Given the description of an element on the screen output the (x, y) to click on. 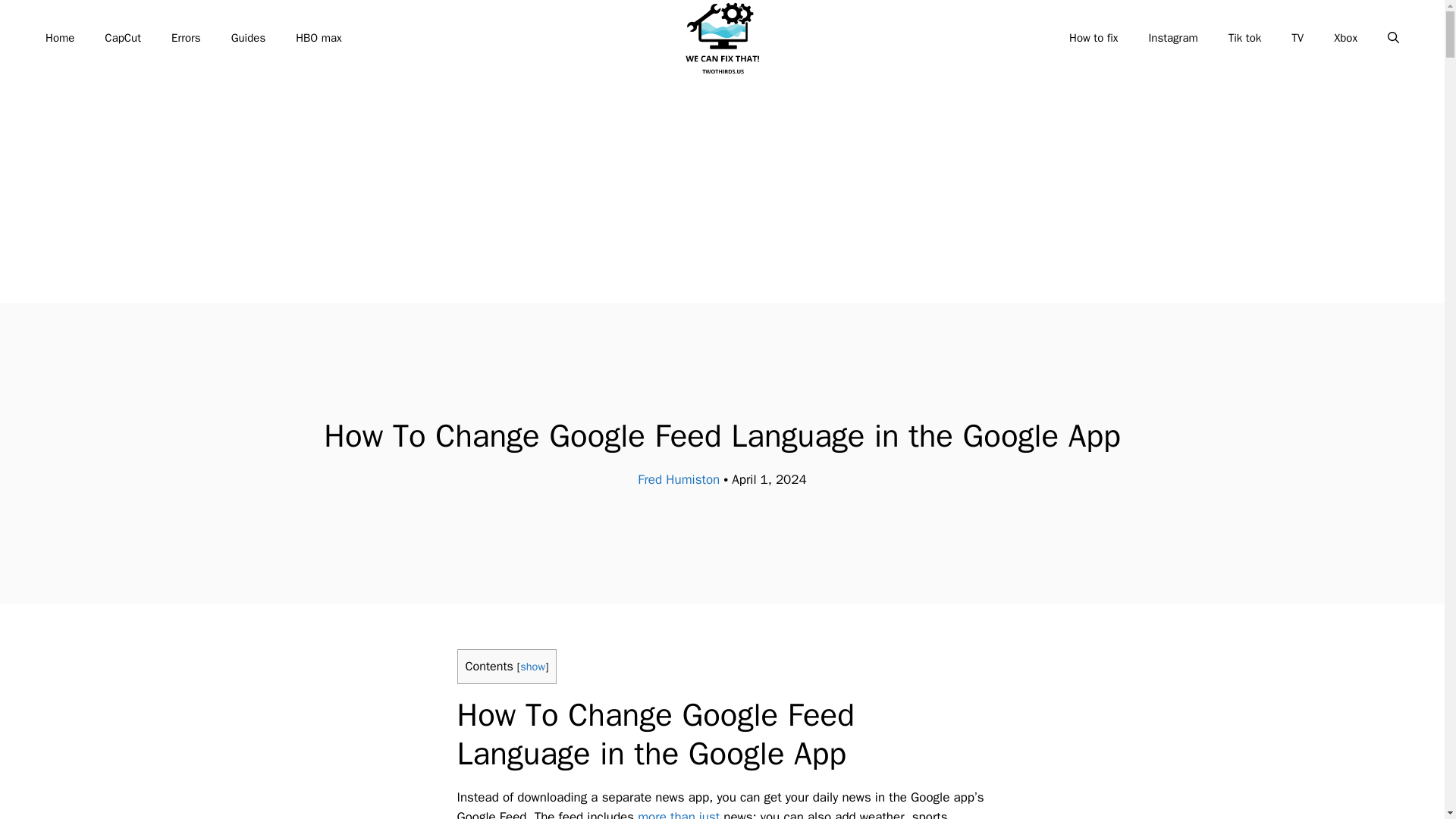
Tik tok (1244, 37)
Menu Item Separator (705, 37)
HBO max (318, 37)
How to fix (1093, 37)
Errors (185, 37)
Guides (248, 37)
Home (59, 37)
Xbox (1346, 37)
TV (1297, 37)
show (531, 666)
Instagram (1172, 37)
CapCut (121, 37)
Fred Humiston (678, 479)
